Given the description of an element on the screen output the (x, y) to click on. 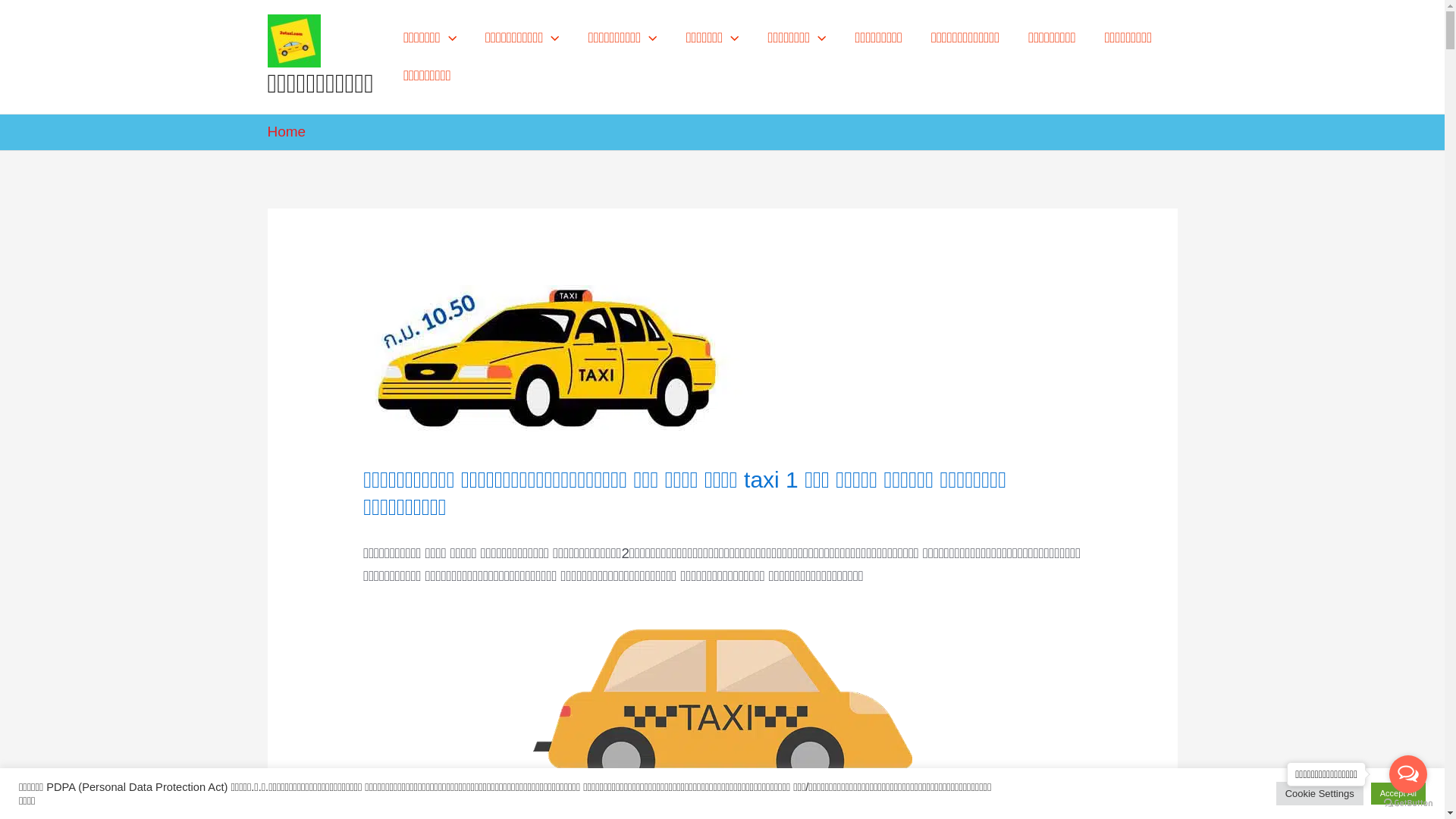
Accept All Element type: text (1398, 793)
Cookie Settings Element type: text (1319, 793)
